Given the description of an element on the screen output the (x, y) to click on. 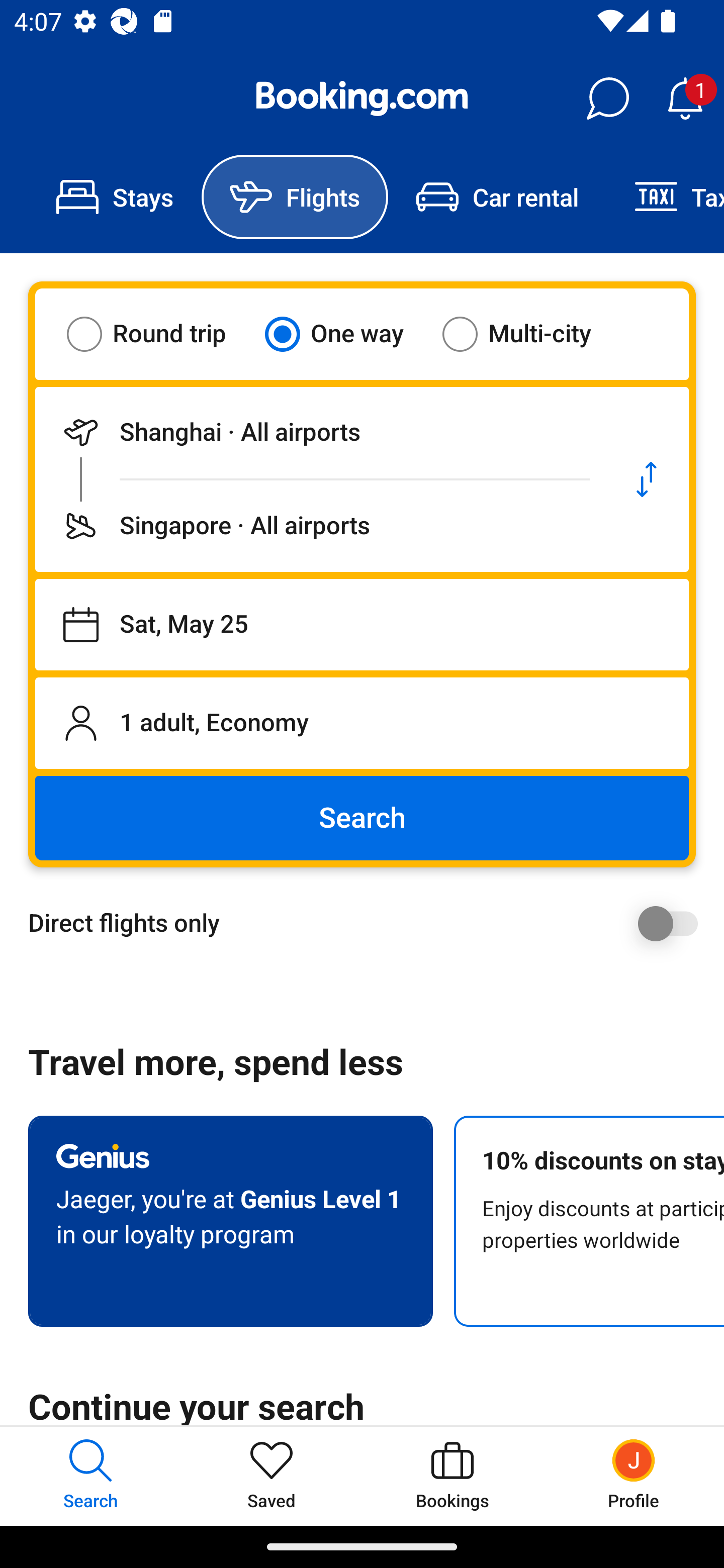
Messages (607, 98)
Notifications (685, 98)
Stays (114, 197)
Flights (294, 197)
Car rental (497, 197)
Taxi (665, 197)
Round trip (158, 333)
Multi-city (528, 333)
Departing from Shanghai · All airports (319, 432)
Swap departure location and destination (646, 479)
Flying to Singapore · All airports (319, 525)
Departing on Sat, May 25 (361, 624)
1 adult, Economy (361, 722)
Search (361, 818)
Direct flights only (369, 923)
Saved (271, 1475)
Bookings (452, 1475)
Profile (633, 1475)
